Given the description of an element on the screen output the (x, y) to click on. 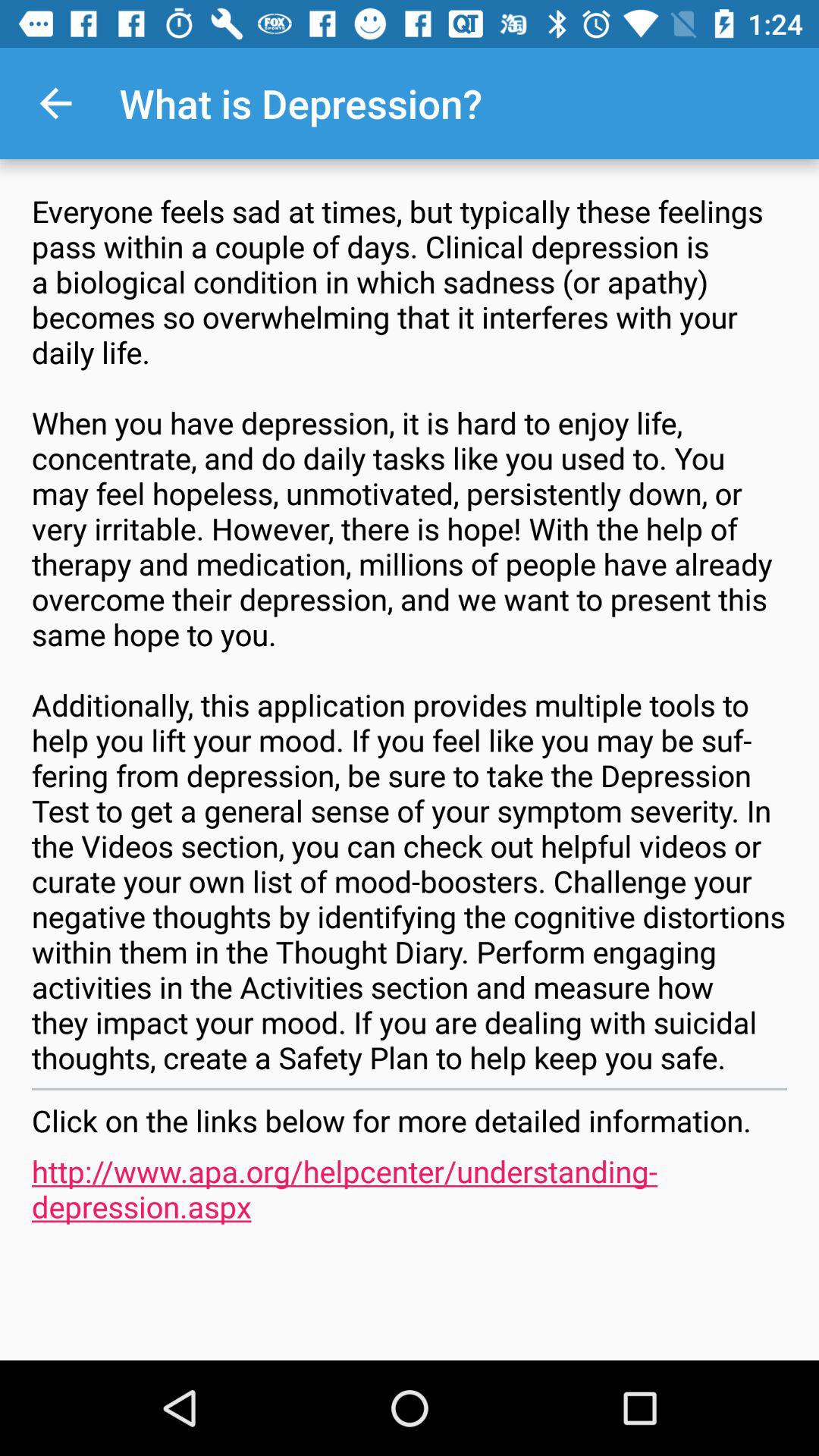
jump until the http www apa app (409, 1188)
